Given the description of an element on the screen output the (x, y) to click on. 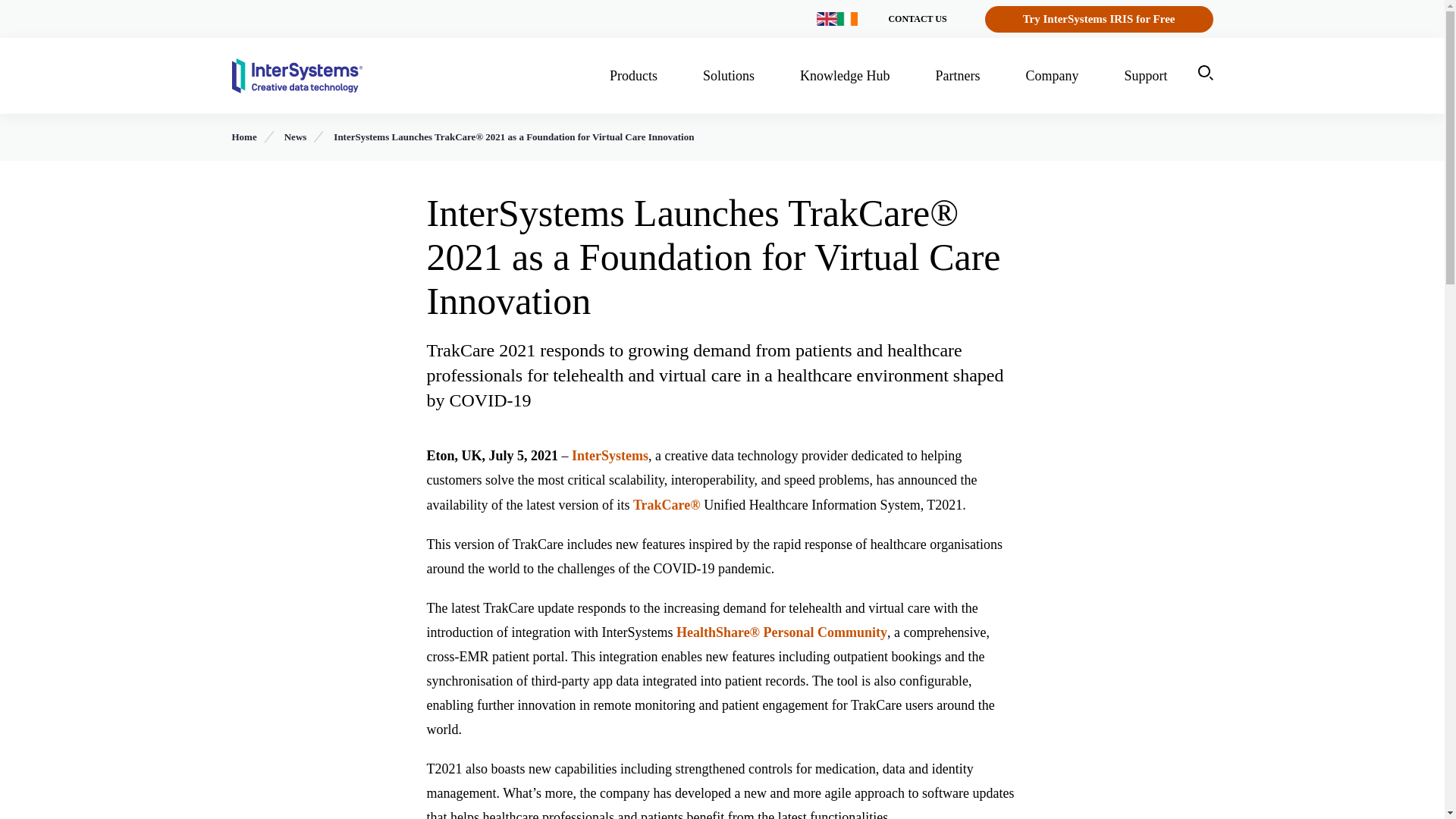
Toggle Countries (836, 18)
